Given the description of an element on the screen output the (x, y) to click on. 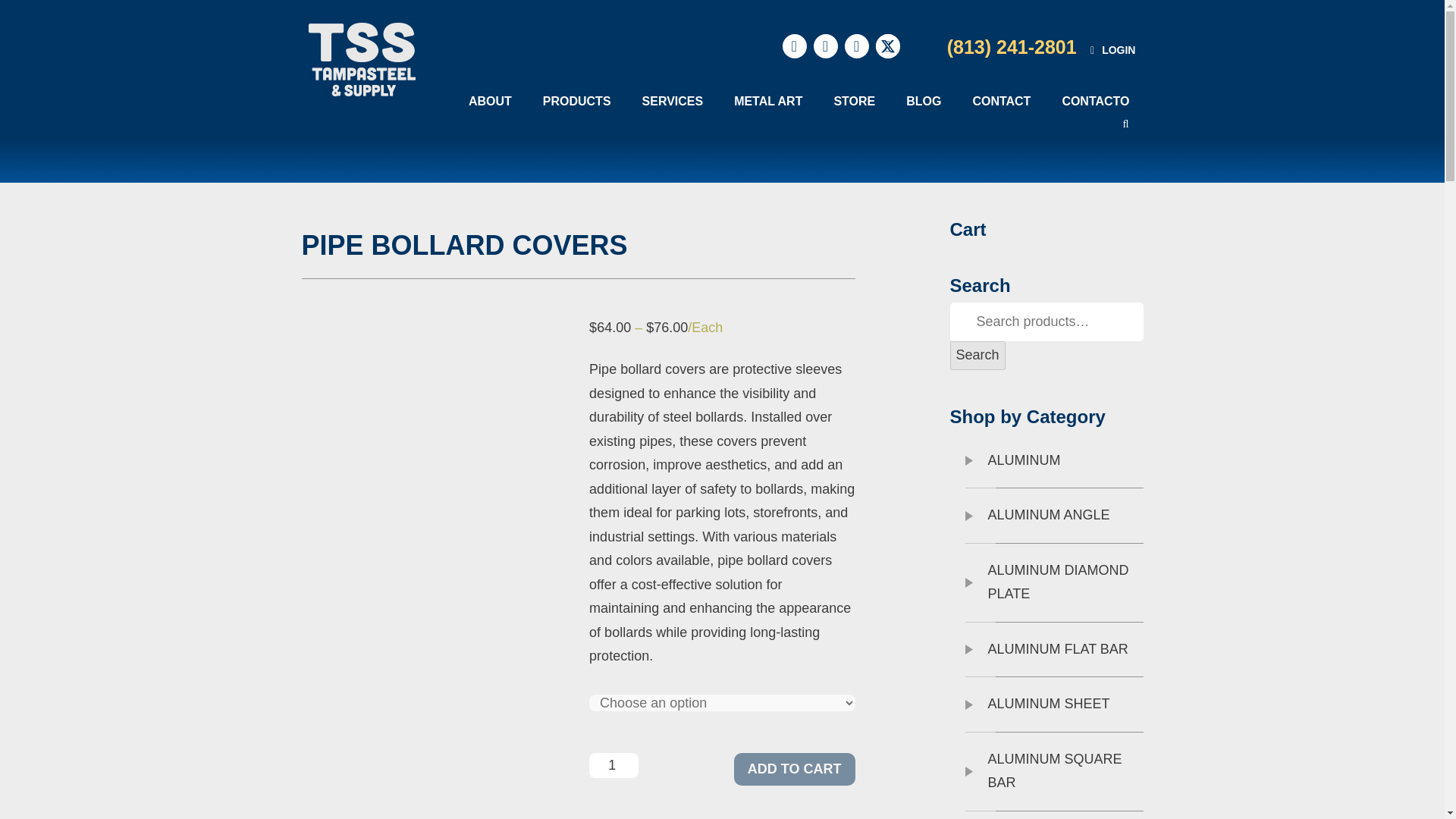
CONTACT (1001, 100)
CONTACTO (1094, 100)
ABOUT (489, 100)
Metal Art (767, 100)
SERVICES (672, 100)
LinkedIn (825, 46)
BLOG (923, 100)
1 (614, 765)
Twitter (887, 46)
PRODUCTS (577, 100)
